Given the description of an element on the screen output the (x, y) to click on. 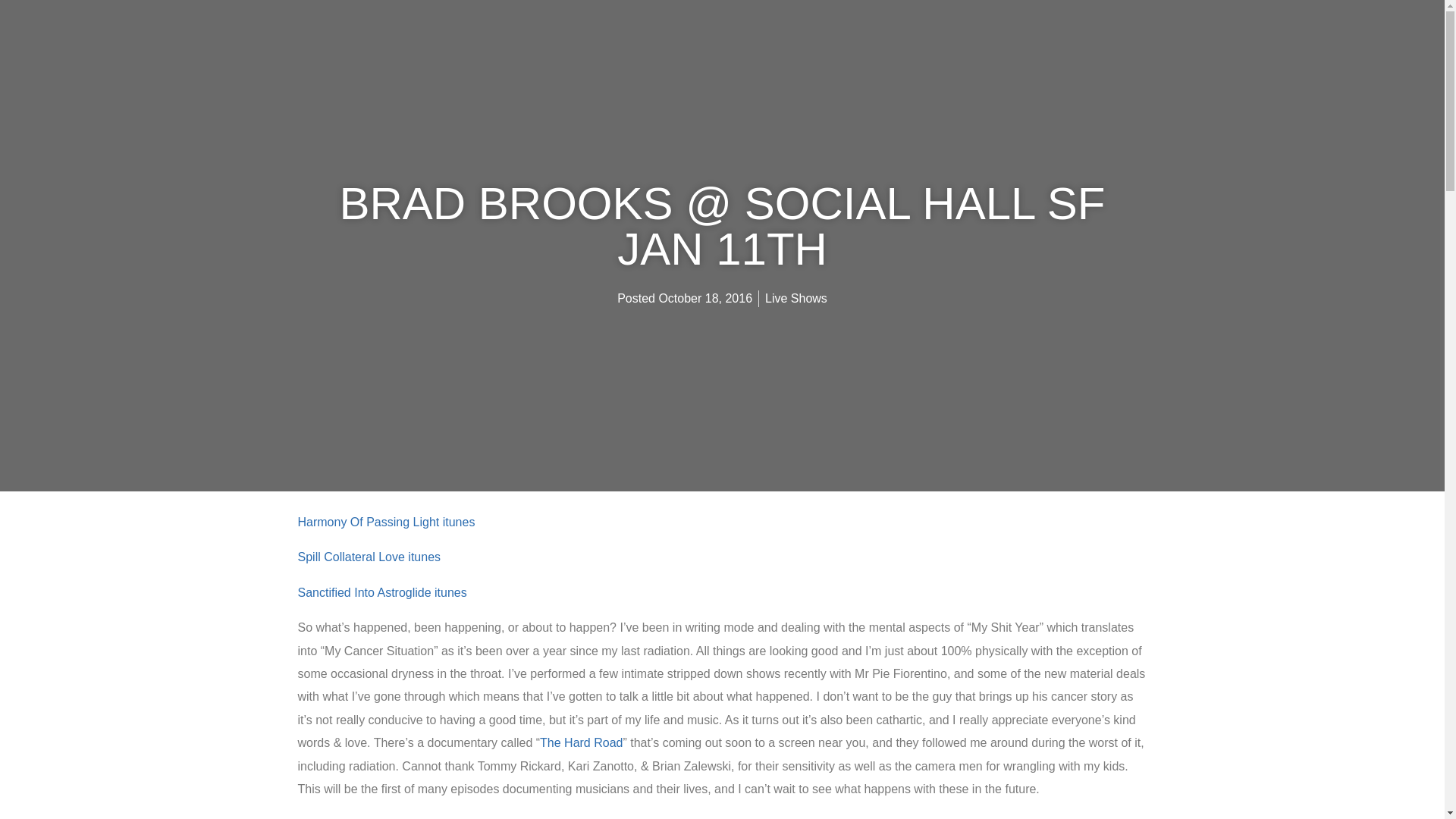
Harmony Of Passing Light itunes (385, 521)
The Hard Road (581, 742)
Sanctified Into Astroglide itunes (381, 592)
Live Shows (796, 297)
Spill Collateral Love itunes (369, 556)
